Given the description of an element on the screen output the (x, y) to click on. 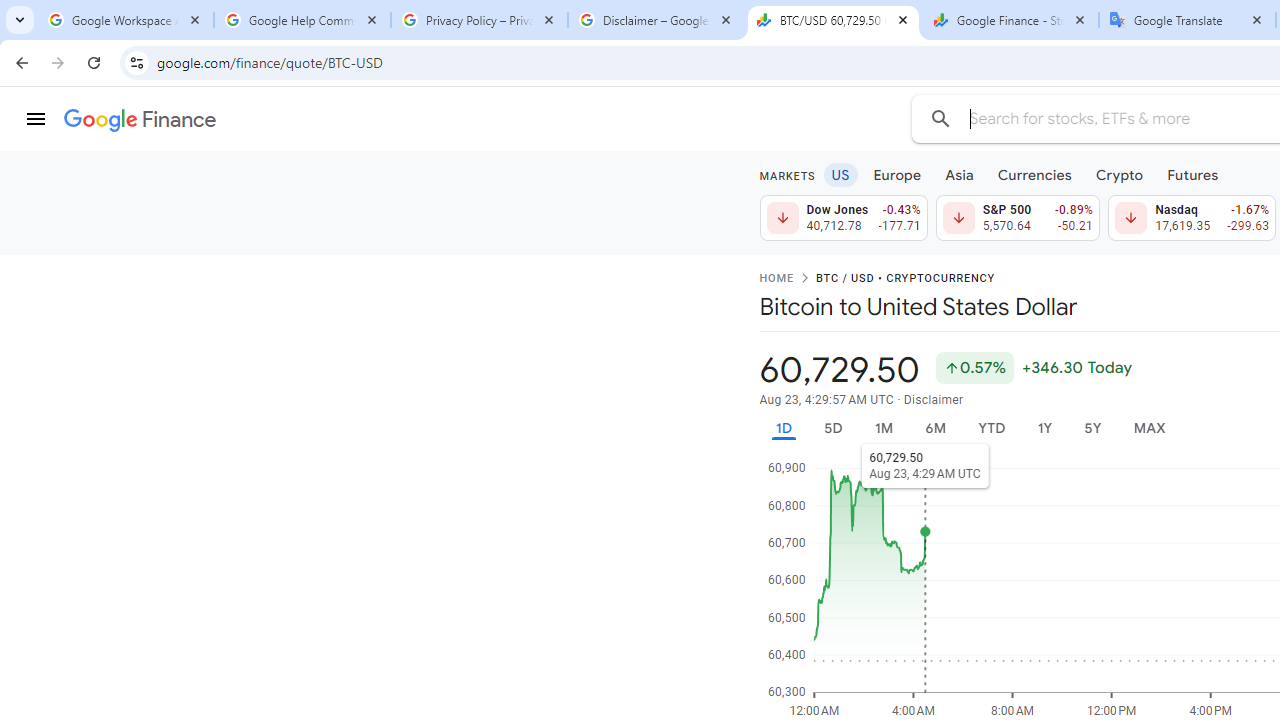
Crypto (1119, 174)
Google Workspace Admin Community (125, 20)
1Y (1044, 427)
Currencies (1034, 174)
5Y (1092, 427)
Nasdaq 17,619.35 Down by 1.67% -299.63 (1192, 218)
MAX (1149, 427)
5D (832, 427)
6M (934, 427)
1M (882, 427)
